Given the description of an element on the screen output the (x, y) to click on. 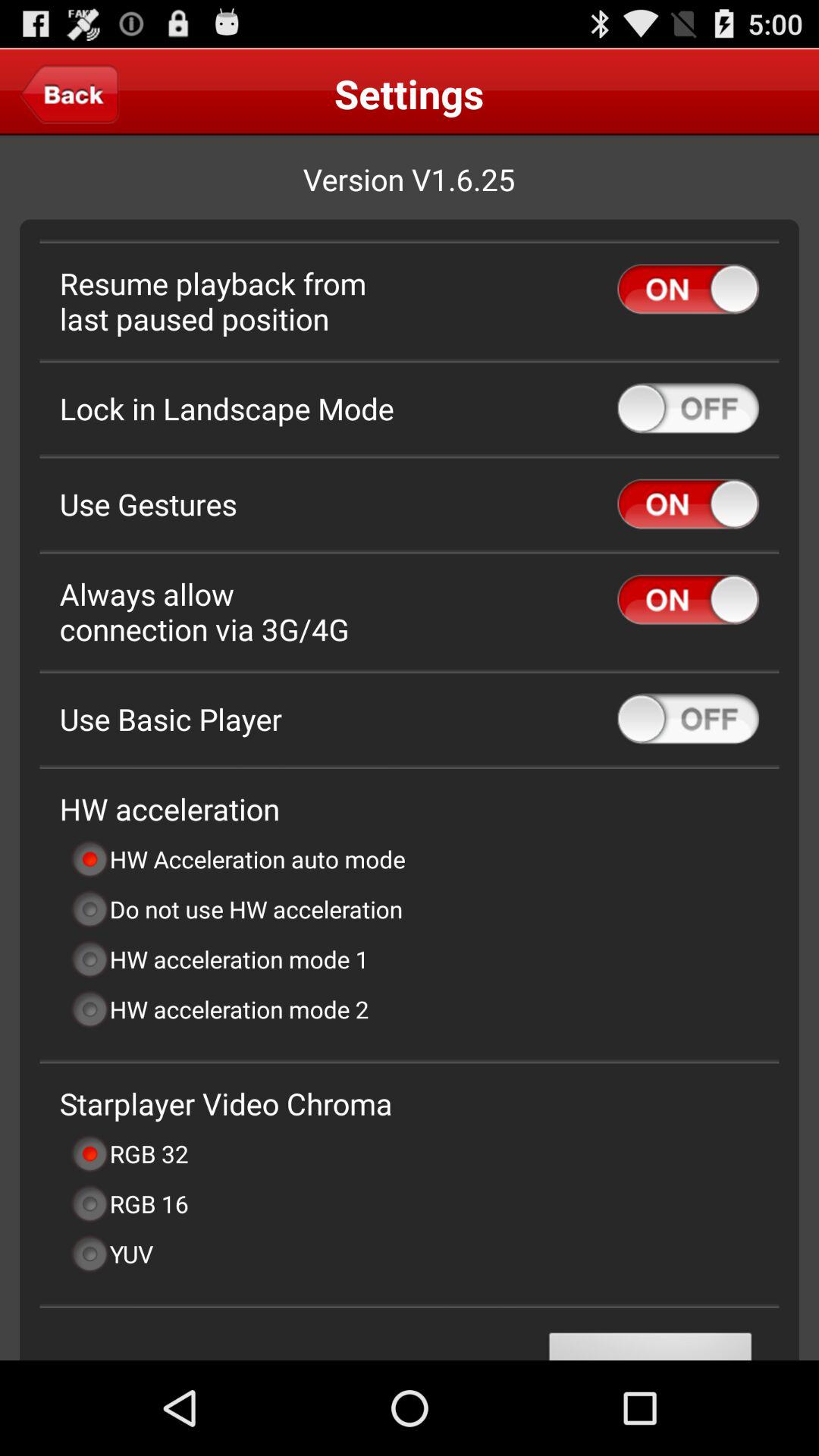
toggle playback from last position (688, 289)
